Given the description of an element on the screen output the (x, y) to click on. 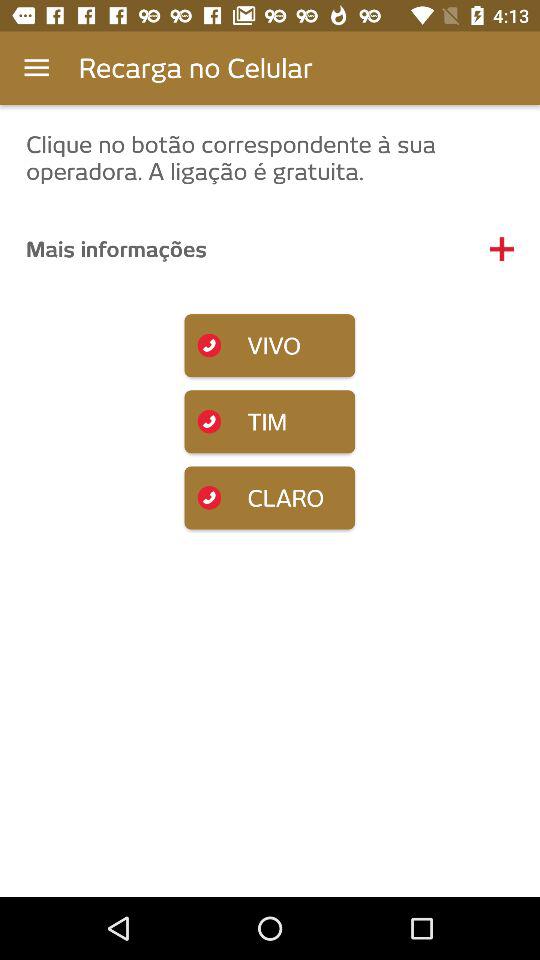
launch item at the top left corner (36, 68)
